Given the description of an element on the screen output the (x, y) to click on. 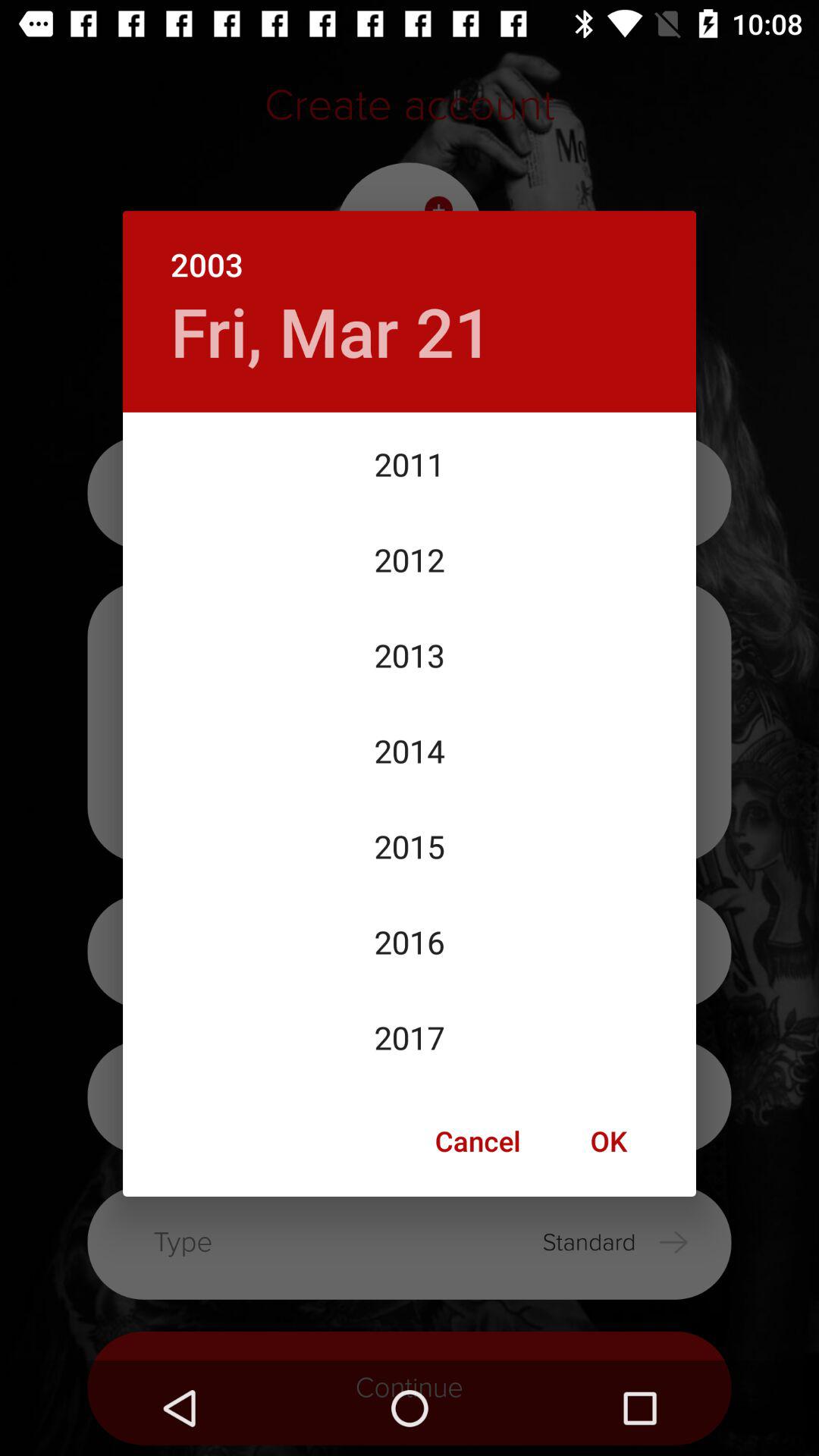
scroll to cancel icon (477, 1140)
